Given the description of an element on the screen output the (x, y) to click on. 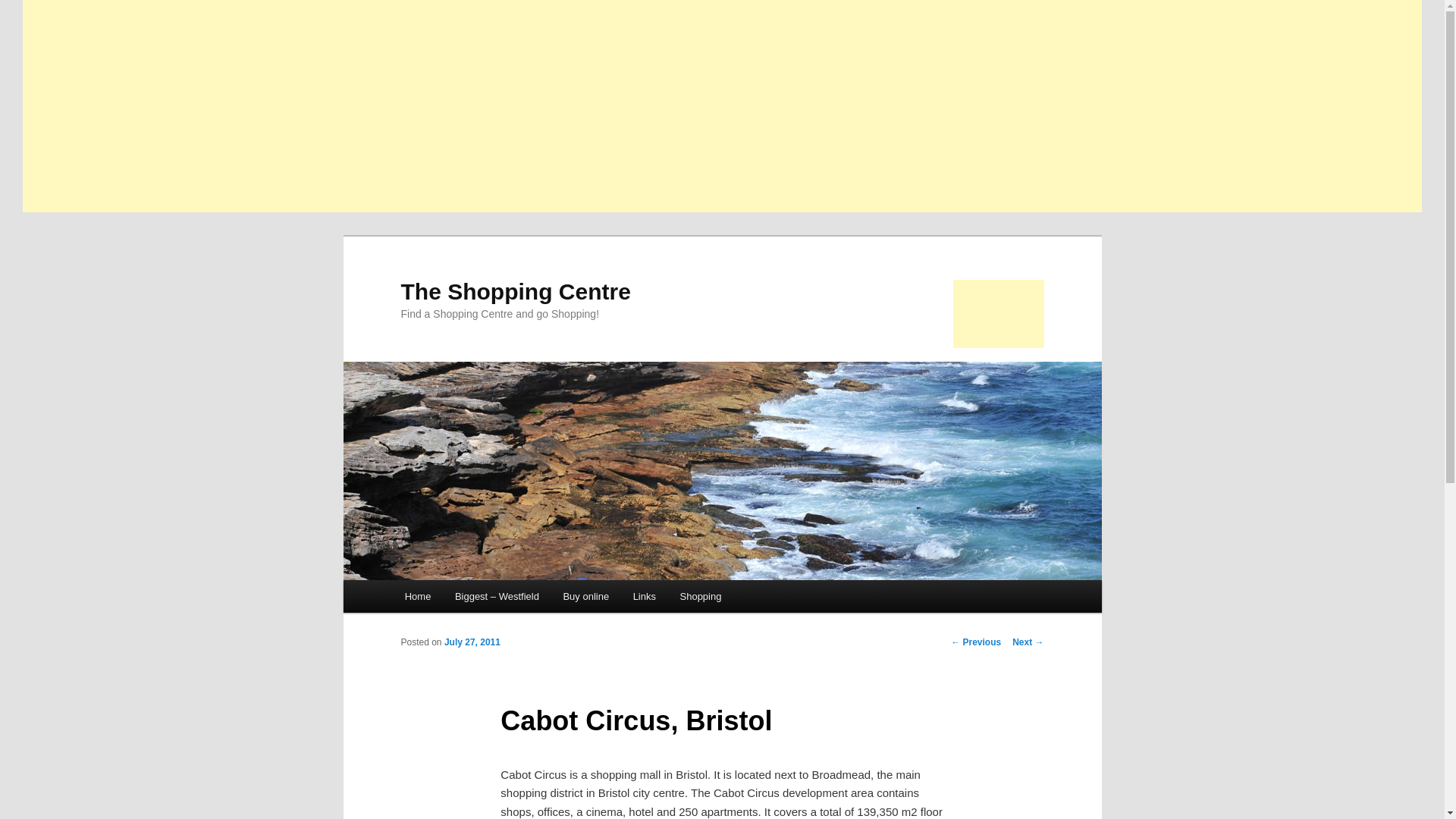
Links (644, 595)
The Shopping Centre (515, 291)
Buy online (586, 595)
Home (417, 595)
July 27, 2011 (472, 642)
Shopping (700, 595)
Advertisement (997, 314)
5:27 pm (472, 642)
The Shopping Centre (515, 291)
